Given the description of an element on the screen output the (x, y) to click on. 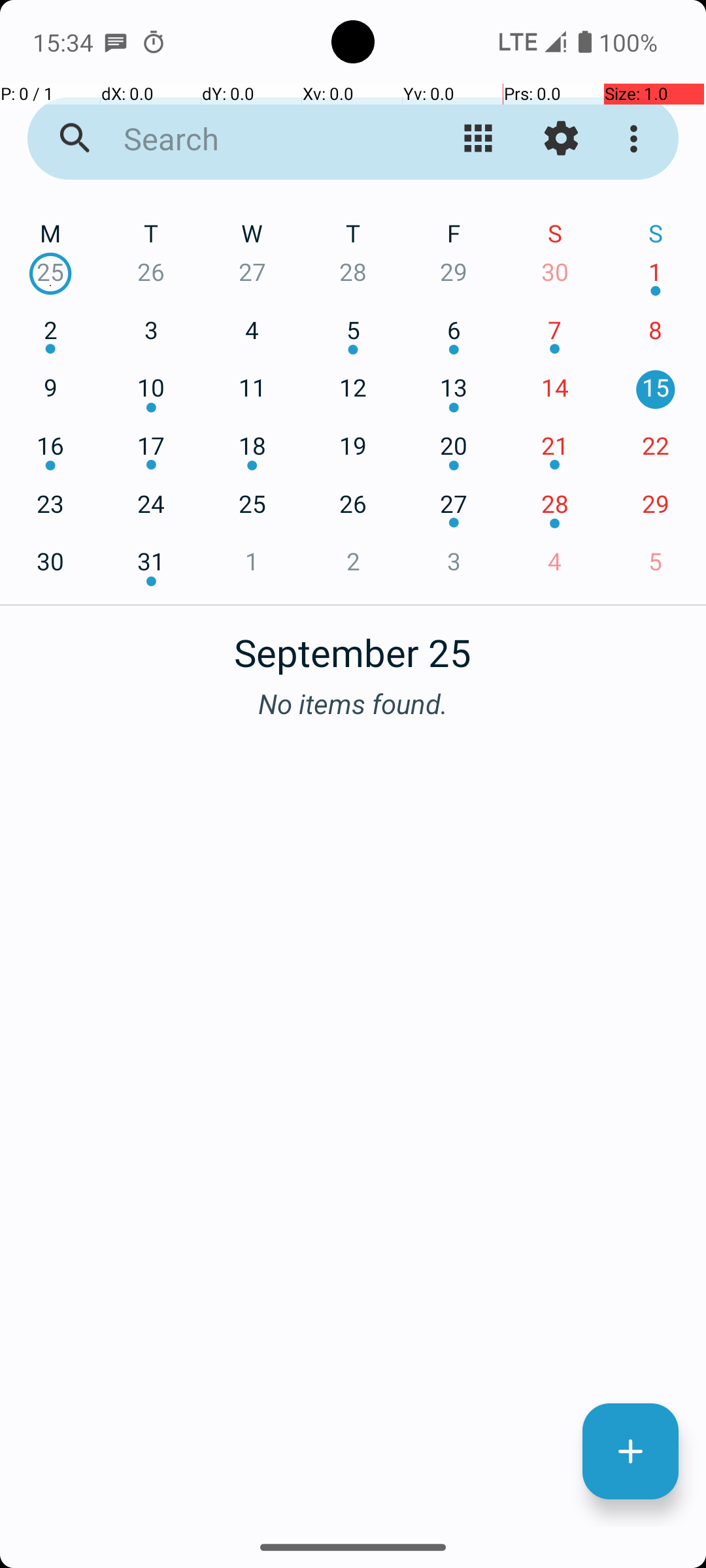
September 25 Element type: android.widget.TextView (352, 644)
SMS Messenger notification: +15785288010 Element type: android.widget.ImageView (115, 41)
